Given the description of an element on the screen output the (x, y) to click on. 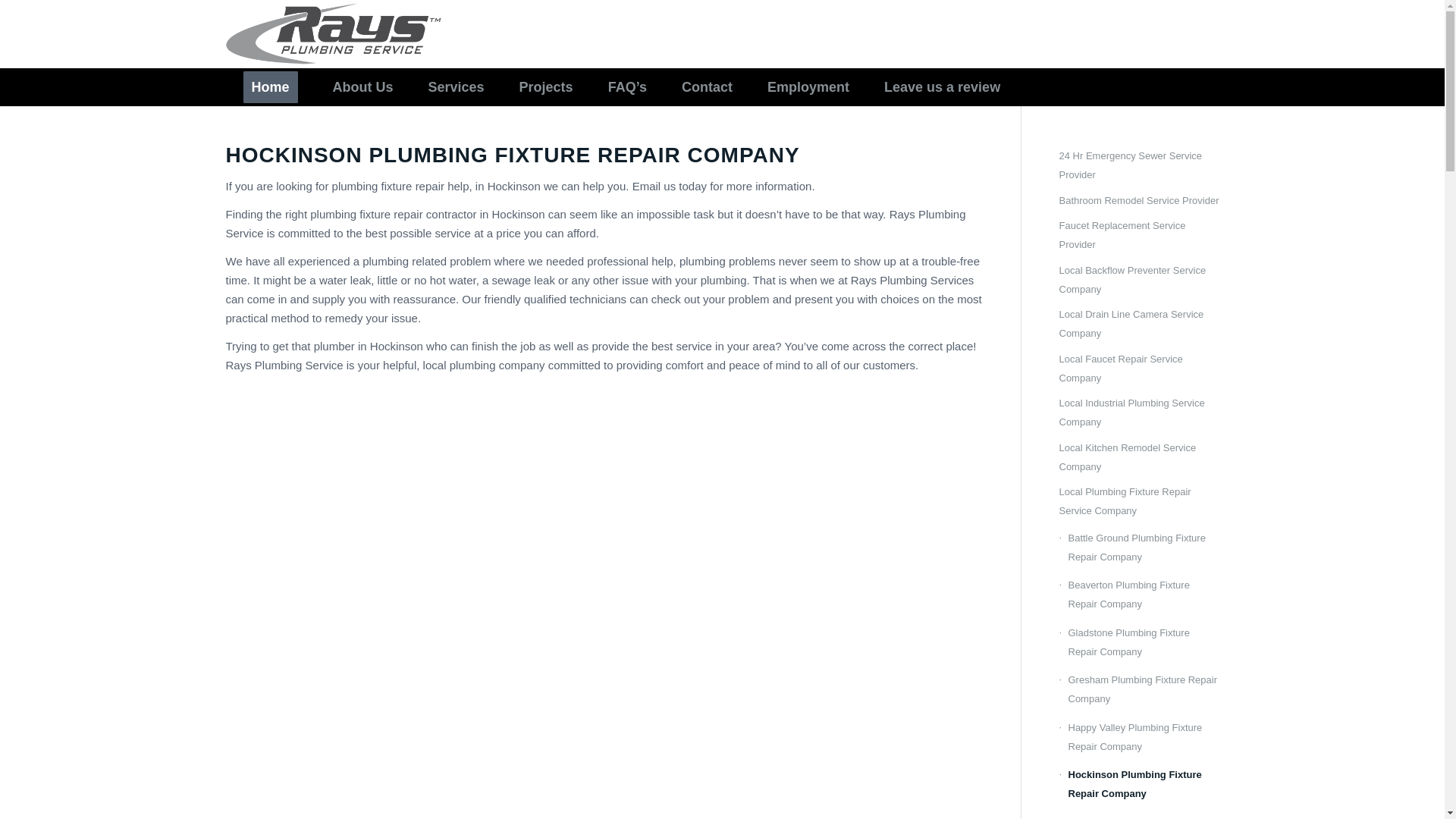
About Us (363, 86)
Services (457, 86)
24 Hr Emergency Sewer Service Provider (1138, 166)
Contact (706, 86)
Employment (808, 86)
Projects (546, 86)
Leave us a review (942, 86)
Home (269, 86)
